Given the description of an element on the screen output the (x, y) to click on. 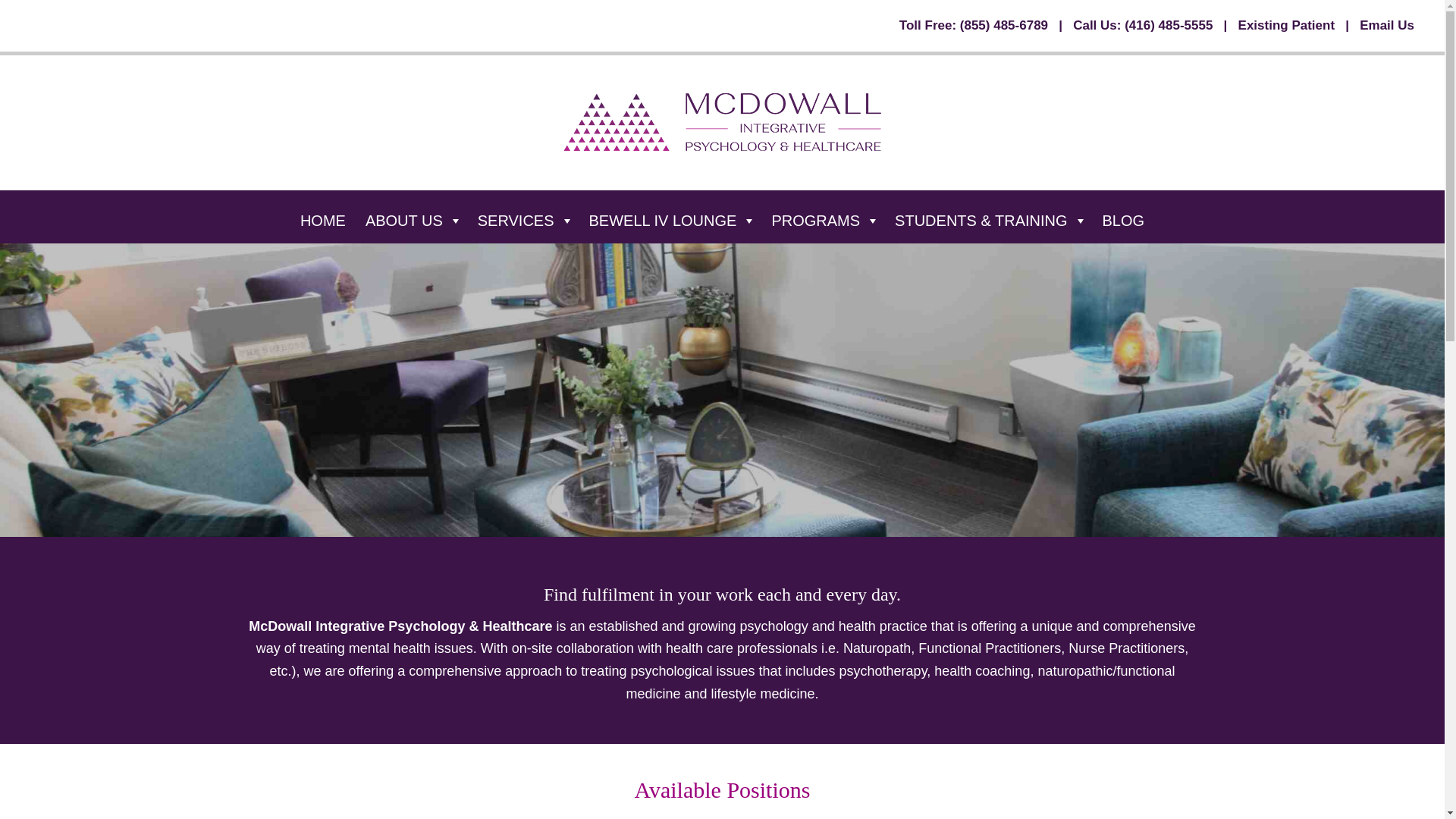
SERVICES (525, 220)
Email Us (1386, 25)
HOME (325, 220)
ABOUT US (414, 220)
Existing Patient (1287, 25)
